Given the description of an element on the screen output the (x, y) to click on. 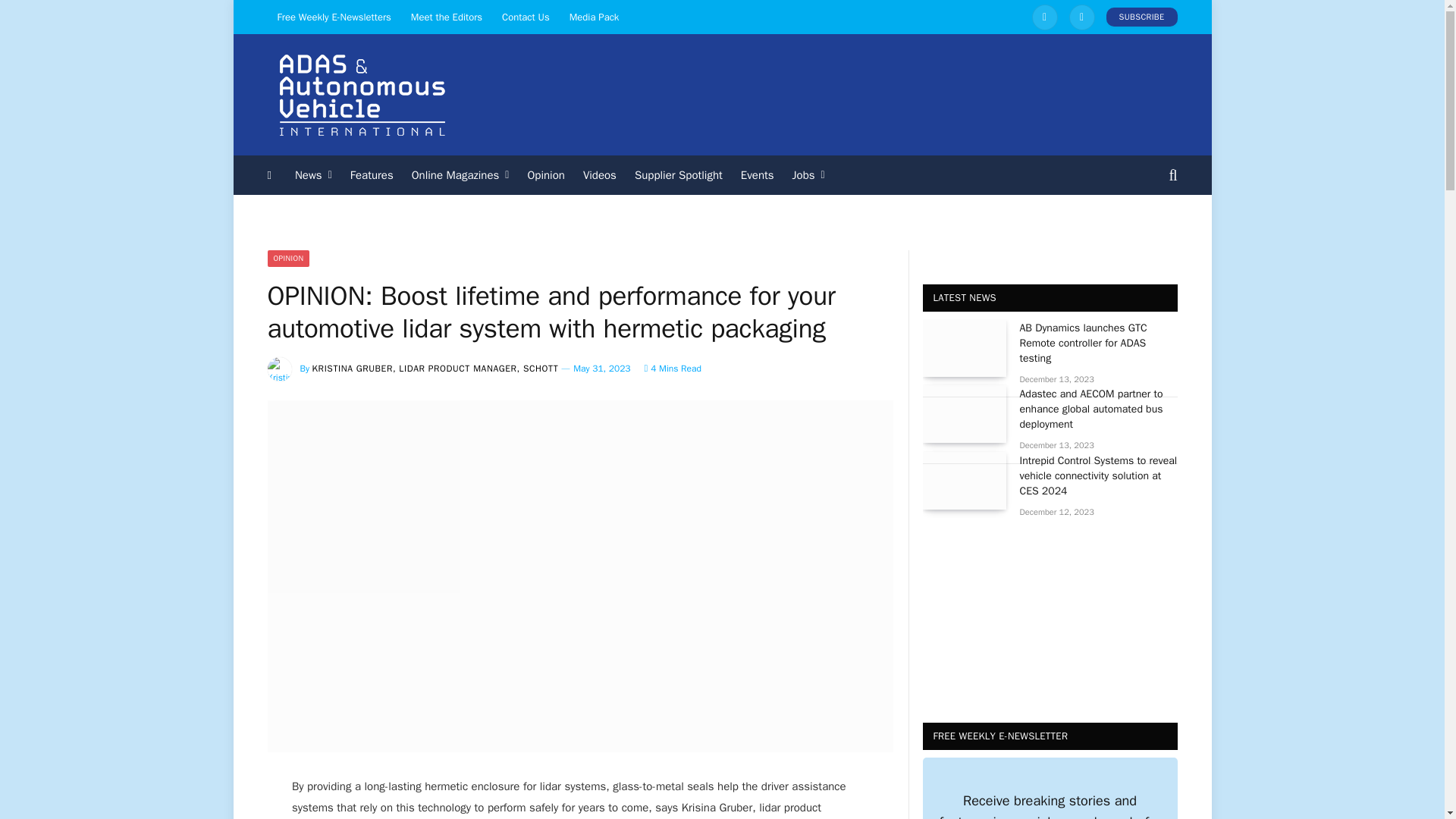
Facebook (1081, 17)
Contact Us (525, 17)
Posts by Kristina Gruber, lidar product manager, Schott (436, 368)
Free Weekly E-Newsletters (333, 17)
Meet the Editors (446, 17)
Media Pack (593, 17)
LinkedIn (1045, 17)
News (312, 174)
SUBSCRIBE (1141, 16)
